Given the description of an element on the screen output the (x, y) to click on. 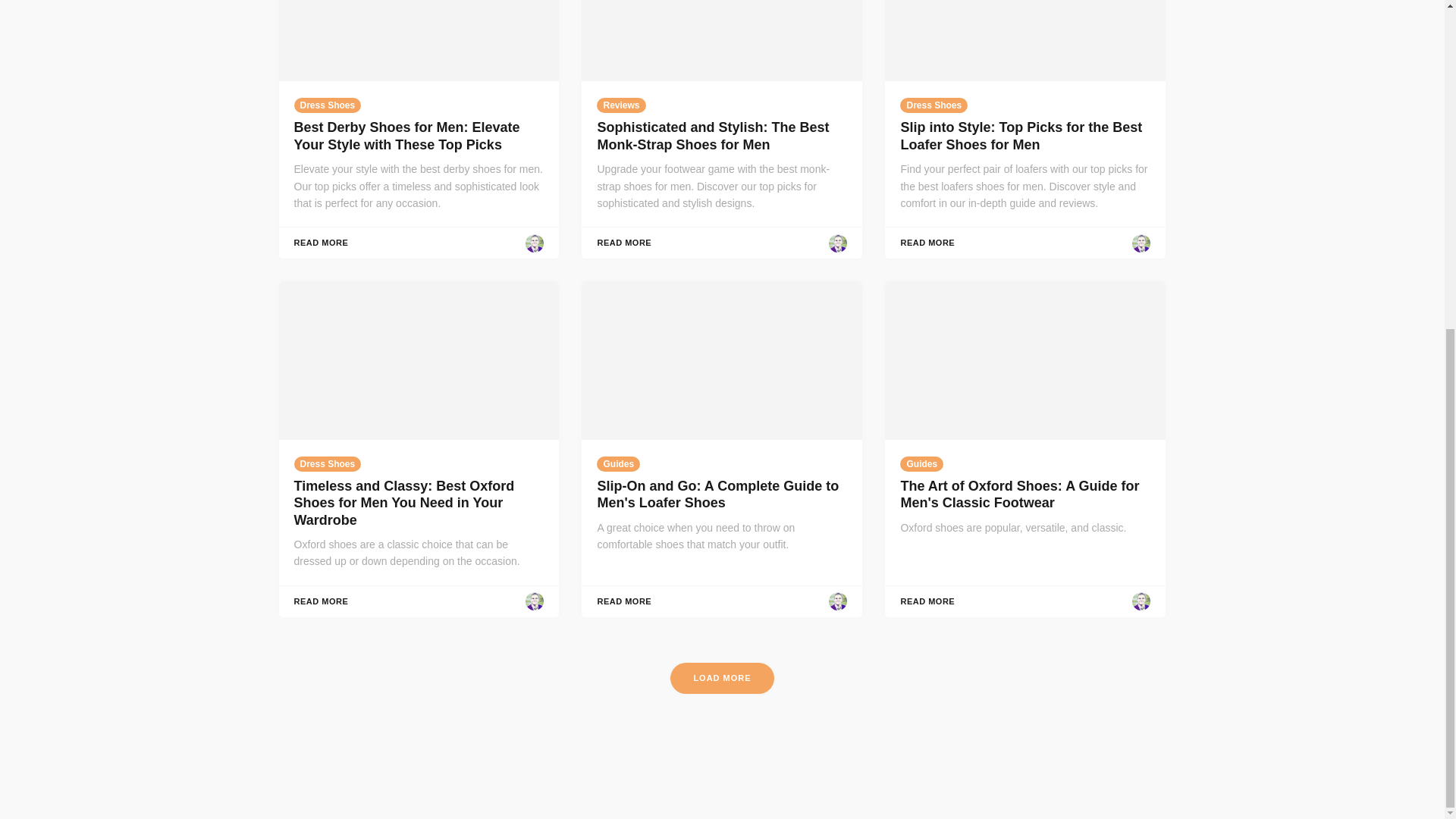
Slip into Style: Top Picks for the Best Loafer Shoes for Men (1020, 135)
READ MORE (927, 243)
READ MORE (321, 601)
Sophisticated and Stylish: The Best Monk-Strap Shoes for Men (712, 135)
Dress Shoes (327, 463)
READ MORE (623, 243)
Dress Shoes (933, 105)
READ MORE (321, 243)
